Given the description of an element on the screen output the (x, y) to click on. 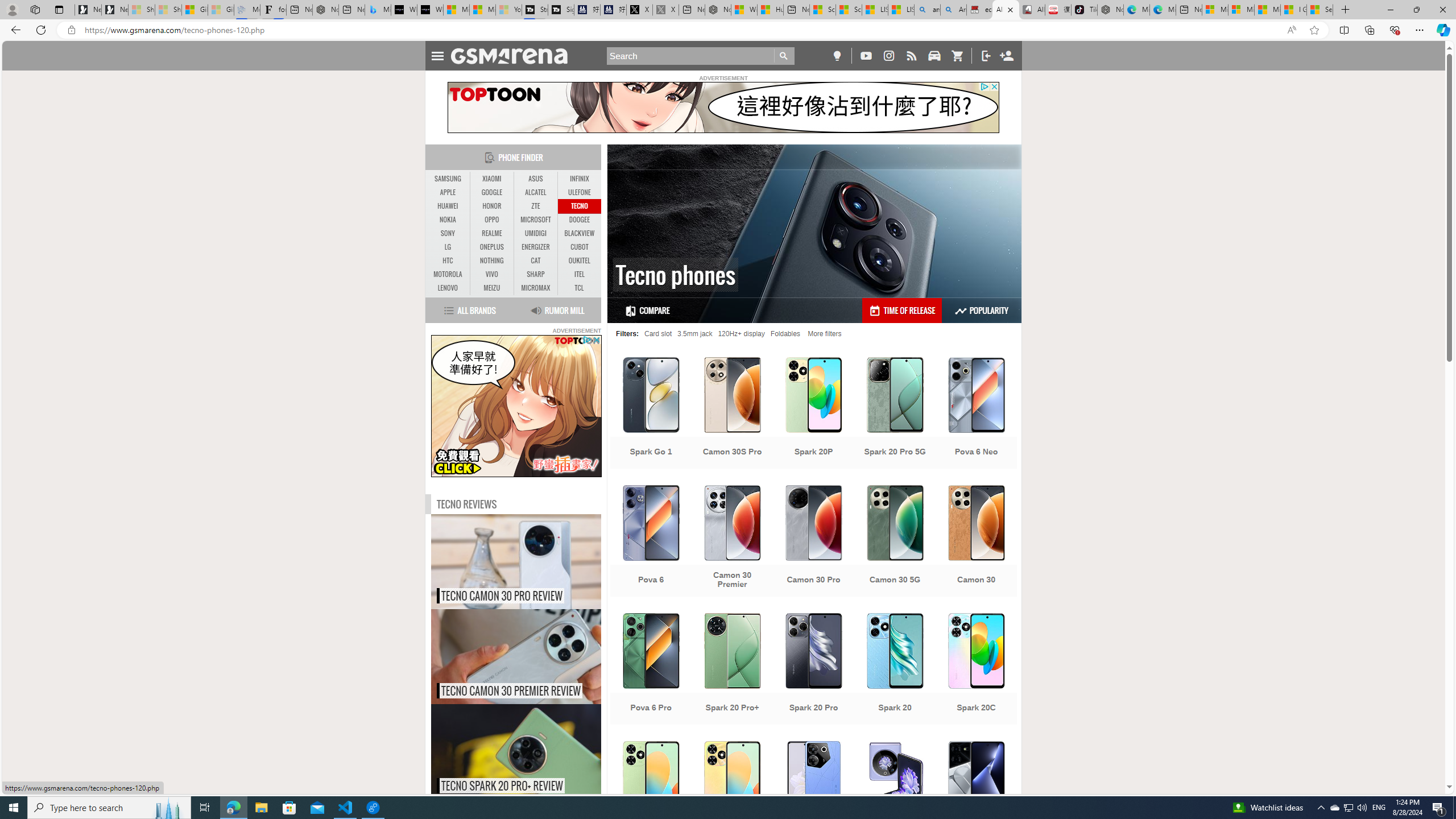
Huge shark washes ashore at New York City beach | Watch (769, 9)
LENOVO (448, 287)
Go (784, 55)
Address and search bar (680, 29)
VIVO (491, 273)
